Given the description of an element on the screen output the (x, y) to click on. 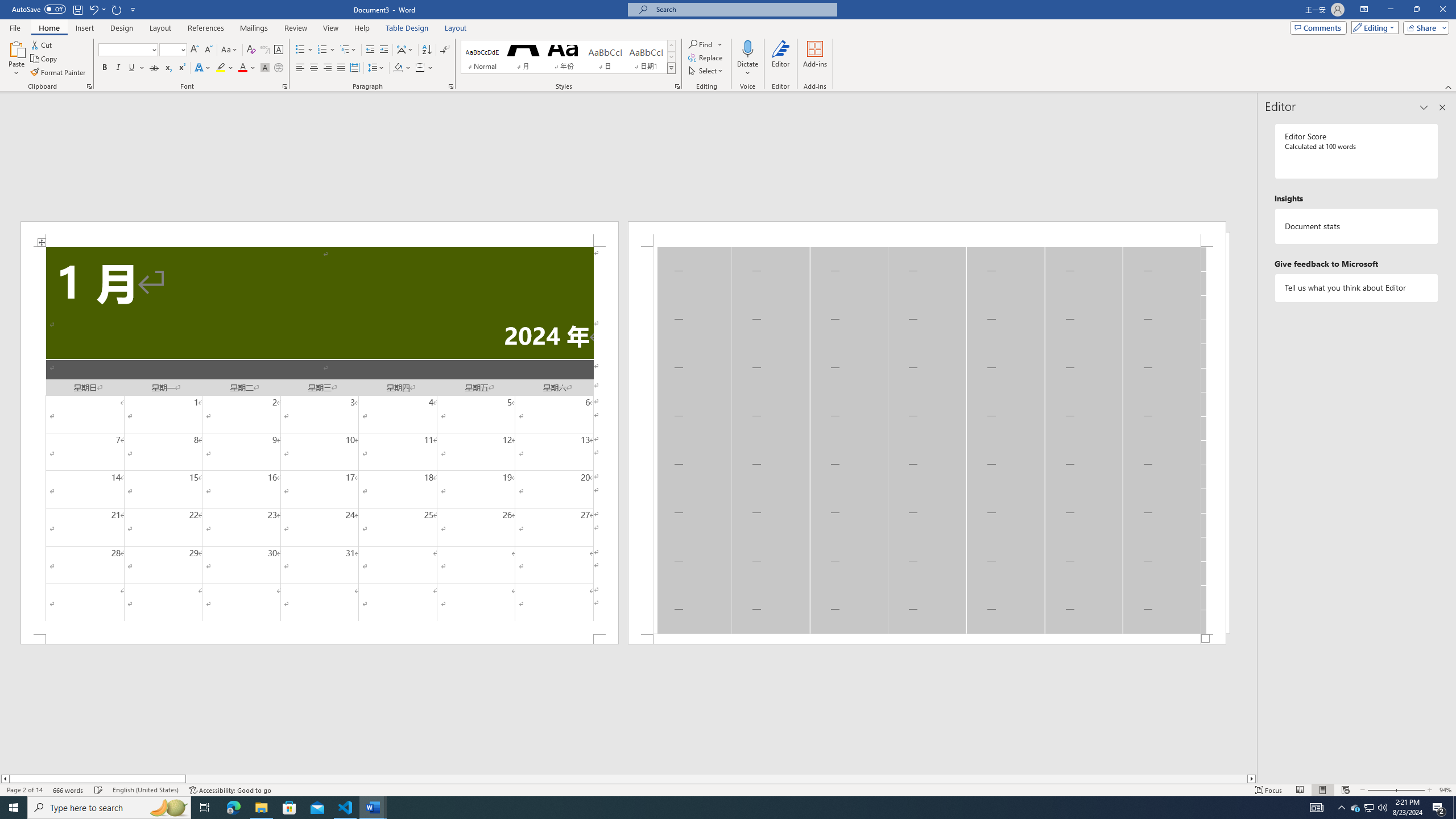
Subscript (167, 67)
Character Shading (264, 67)
Shading (402, 67)
Column left (5, 778)
Line and Paragraph Spacing (376, 67)
Table Design (407, 28)
